Given the description of an element on the screen output the (x, y) to click on. 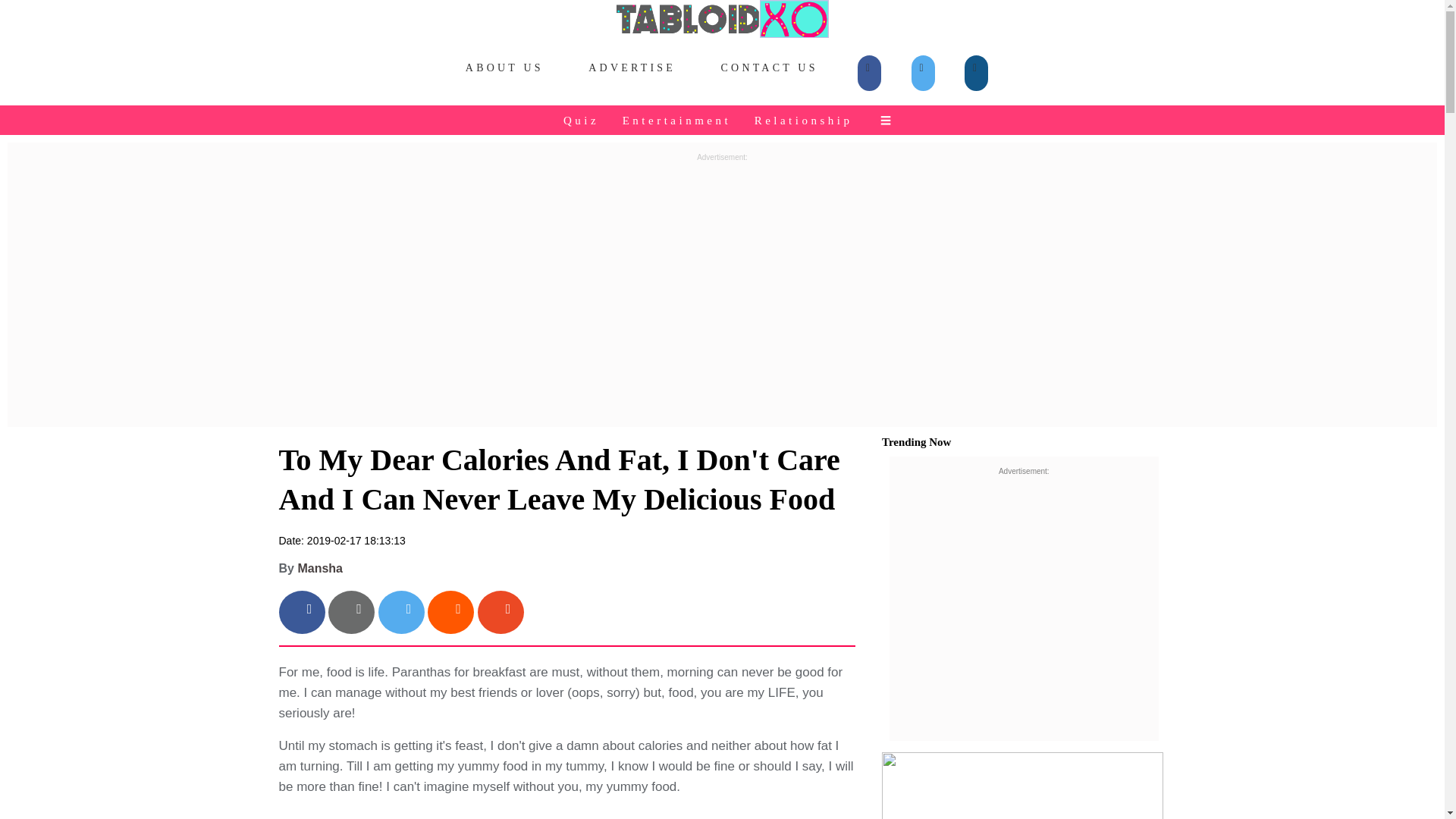
Entertainment (678, 120)
Quiz (582, 120)
ABOUT US (504, 67)
CONTACT US (769, 67)
Relationship (804, 120)
ADVERTISE (631, 67)
